Given the description of an element on the screen output the (x, y) to click on. 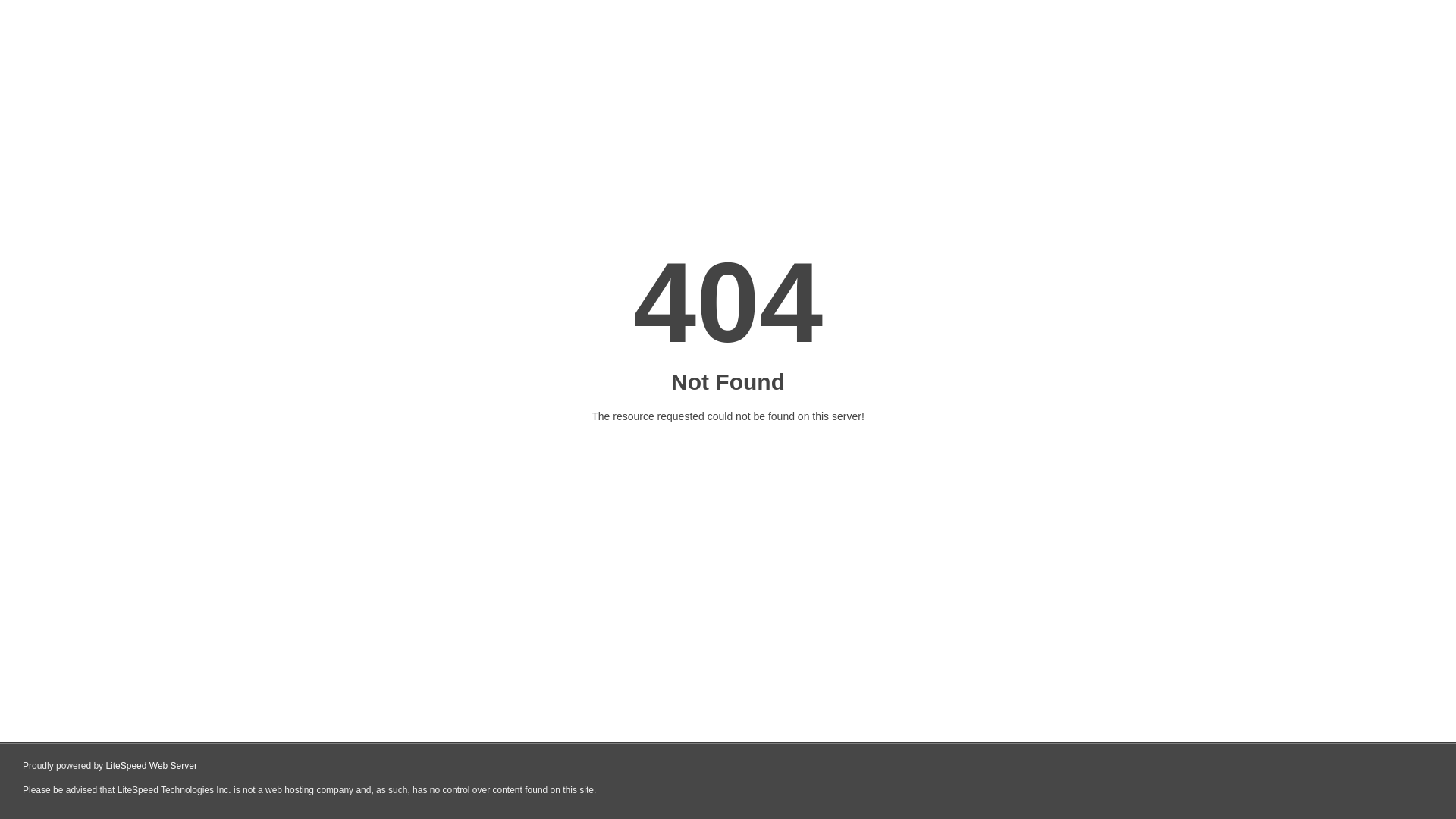
LiteSpeed Web Server Element type: text (151, 765)
